Given the description of an element on the screen output the (x, y) to click on. 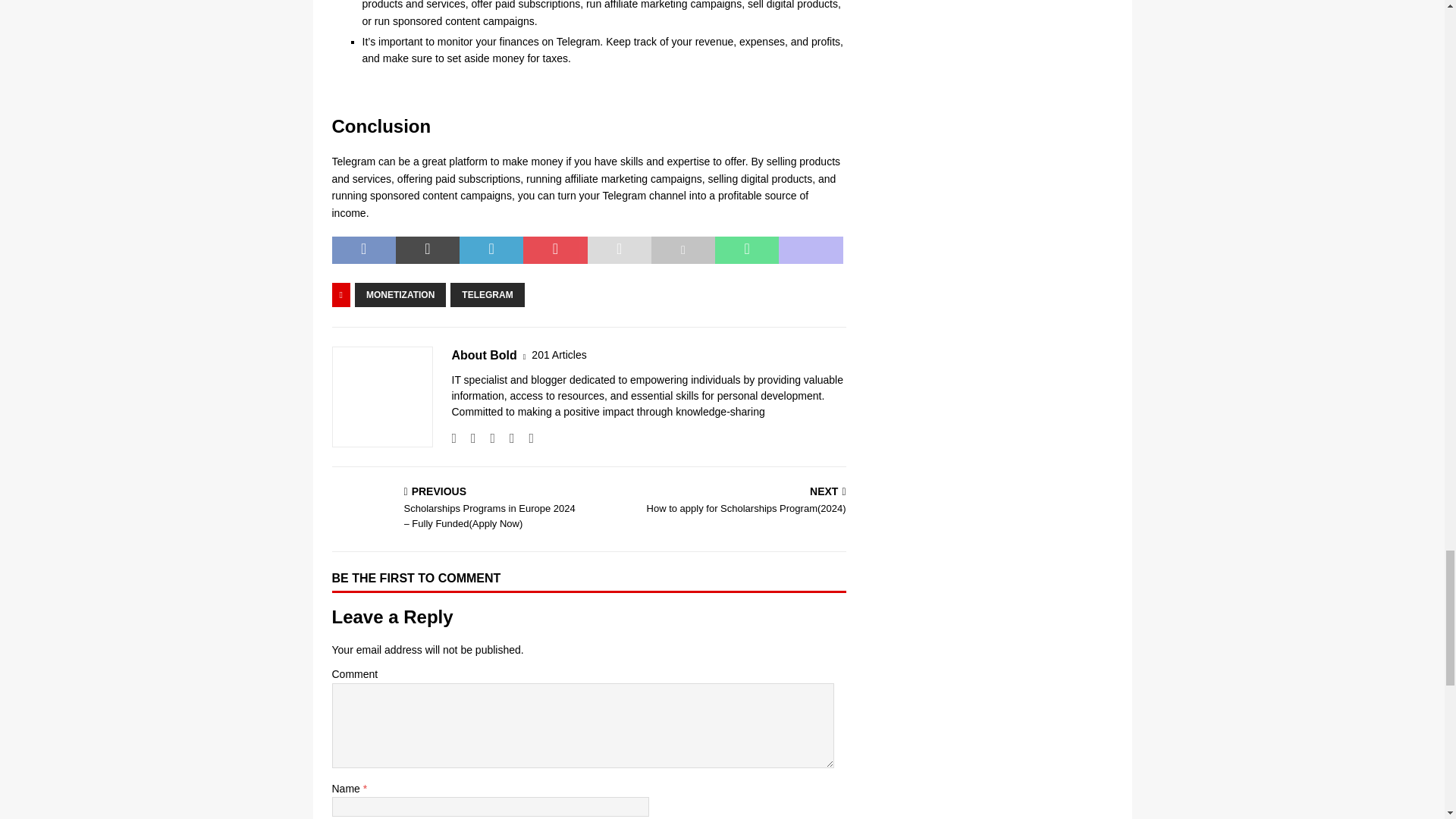
Share on LinkedIn (491, 249)
Share on Facebook (363, 249)
Pin This Post (554, 249)
Tweet This Post (428, 249)
